Given the description of an element on the screen output the (x, y) to click on. 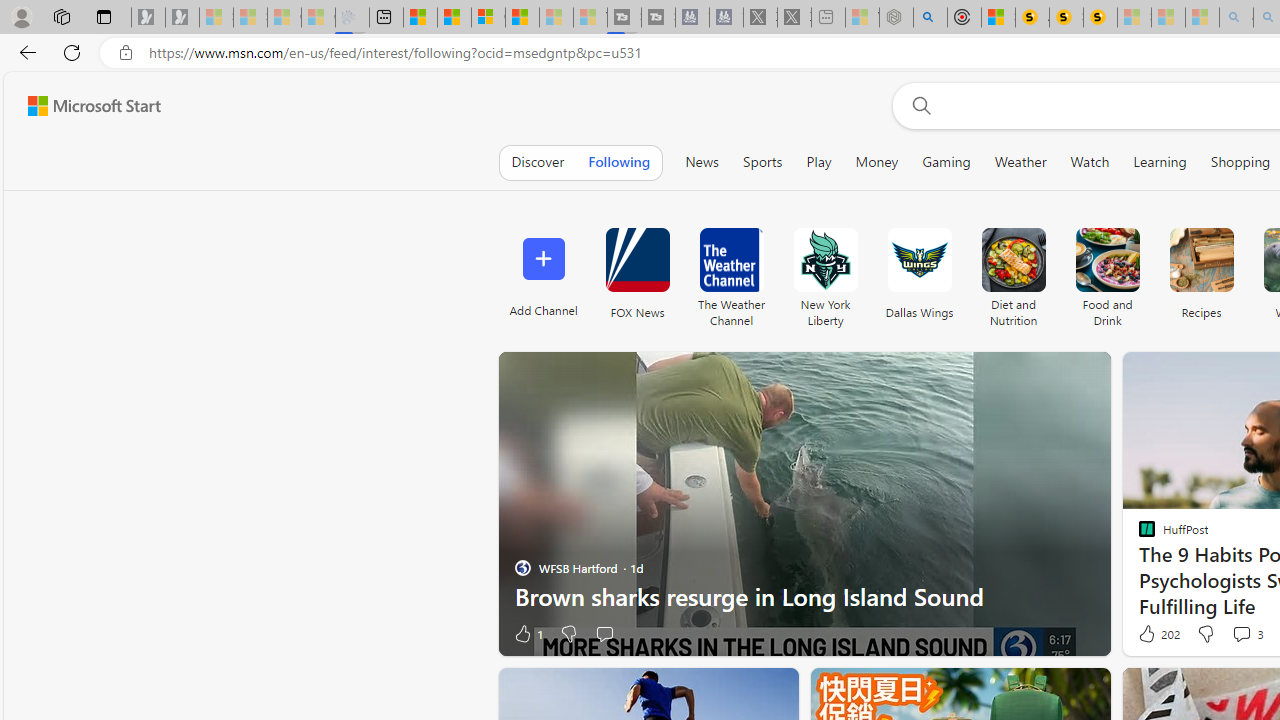
Play (818, 161)
Skip to content (86, 105)
Add Channel (542, 272)
Nordace - Summer Adventures 2024 - Sleeping (895, 17)
Learning (1160, 162)
Dallas Wings (919, 272)
New tab - Sleeping (827, 17)
View comments 3 Comment (1241, 633)
